Given the description of an element on the screen output the (x, y) to click on. 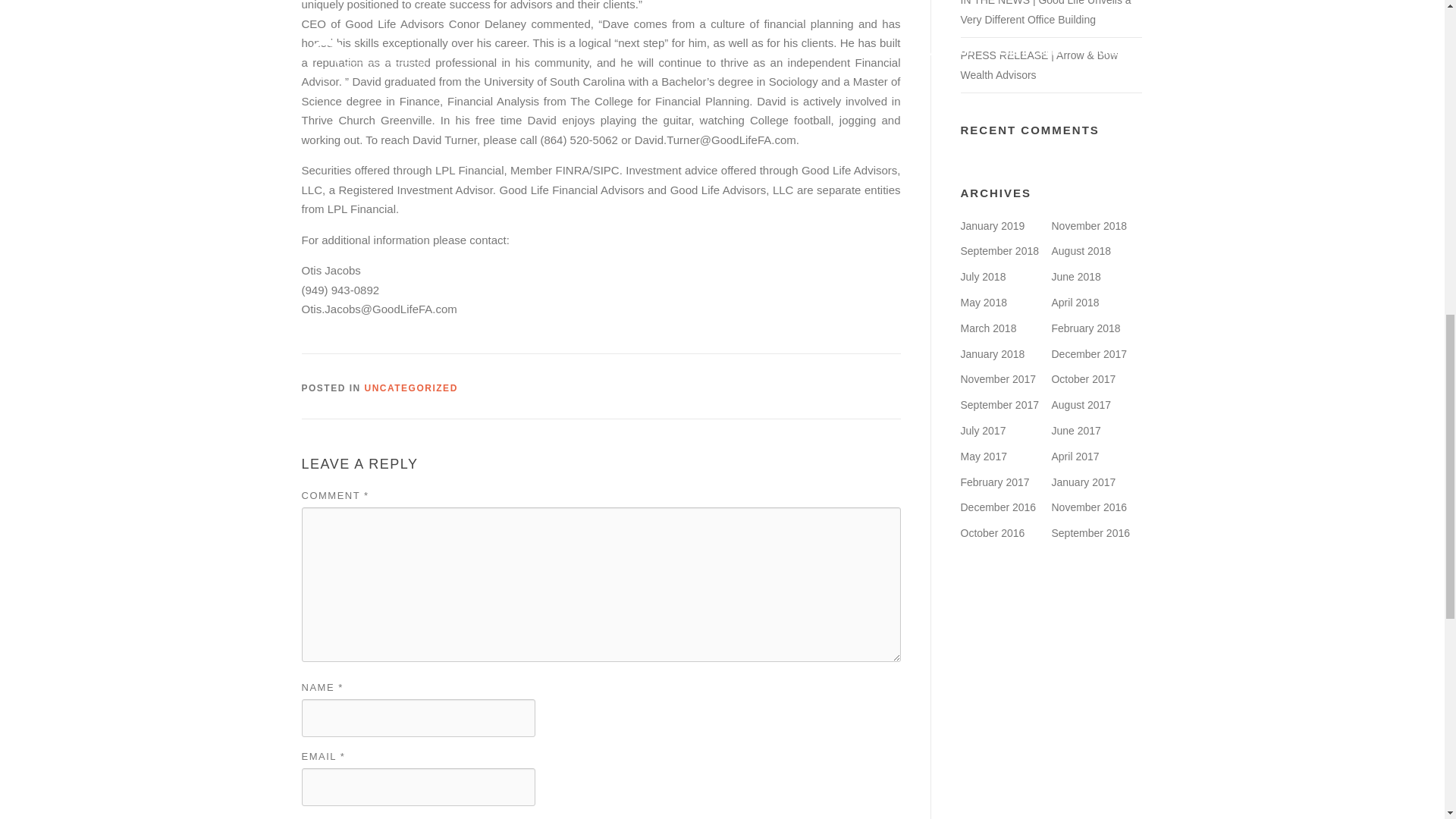
UNCATEGORIZED (411, 388)
January 2019 (992, 225)
